Given the description of an element on the screen output the (x, y) to click on. 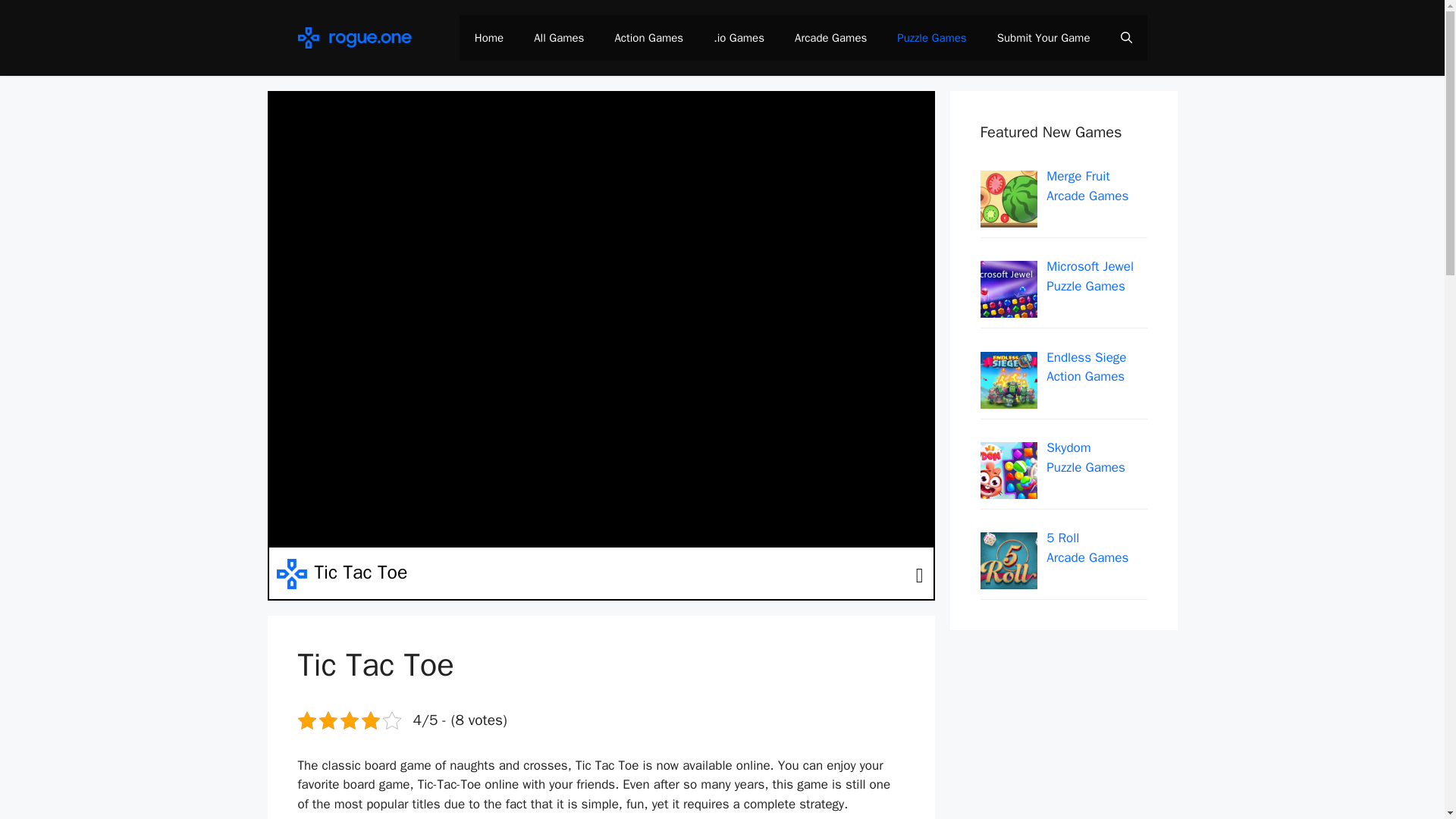
Arcade Games (830, 37)
Action Games (648, 37)
Puzzle Games (931, 37)
Puzzle Games (1085, 467)
Skydom (1068, 447)
Submit Your Game (1043, 37)
Microsoft Jewel (1090, 266)
Action Games (1085, 376)
Merge Fruit (1077, 176)
All Games (558, 37)
Endless Siege (1085, 357)
Arcade Games (1087, 195)
Home (489, 37)
.io Games (738, 37)
Puzzle Games (1085, 286)
